Given the description of an element on the screen output the (x, y) to click on. 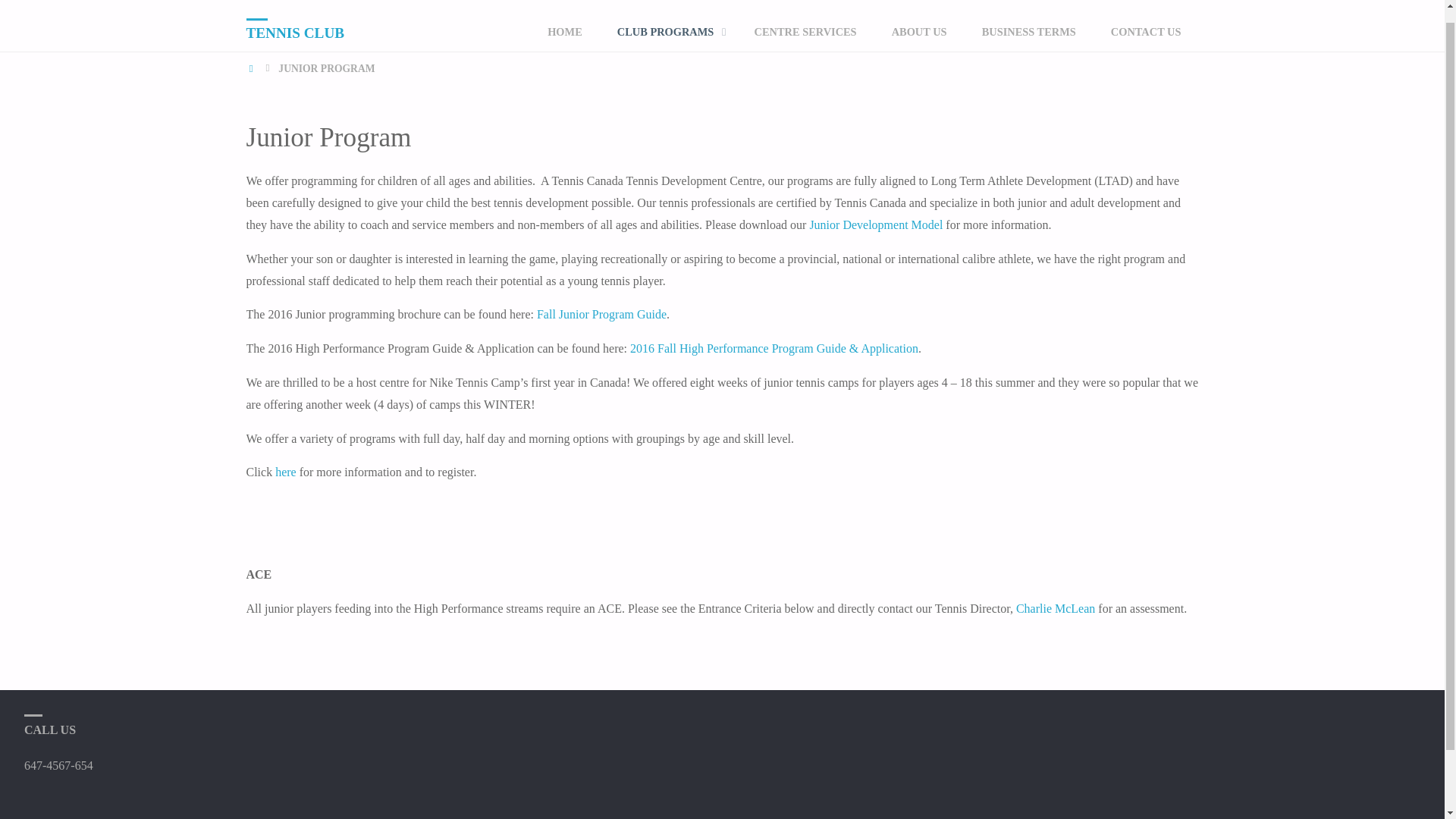
BUSINESS TERMS (1028, 25)
ABOUT US (919, 25)
TENNIS CLUB (294, 19)
here (286, 472)
CENTRE SERVICES (805, 25)
HOME (564, 25)
Junior Development Model (875, 224)
Home (252, 68)
CONTACT US (1145, 25)
Tennis Club (294, 19)
